Given the description of an element on the screen output the (x, y) to click on. 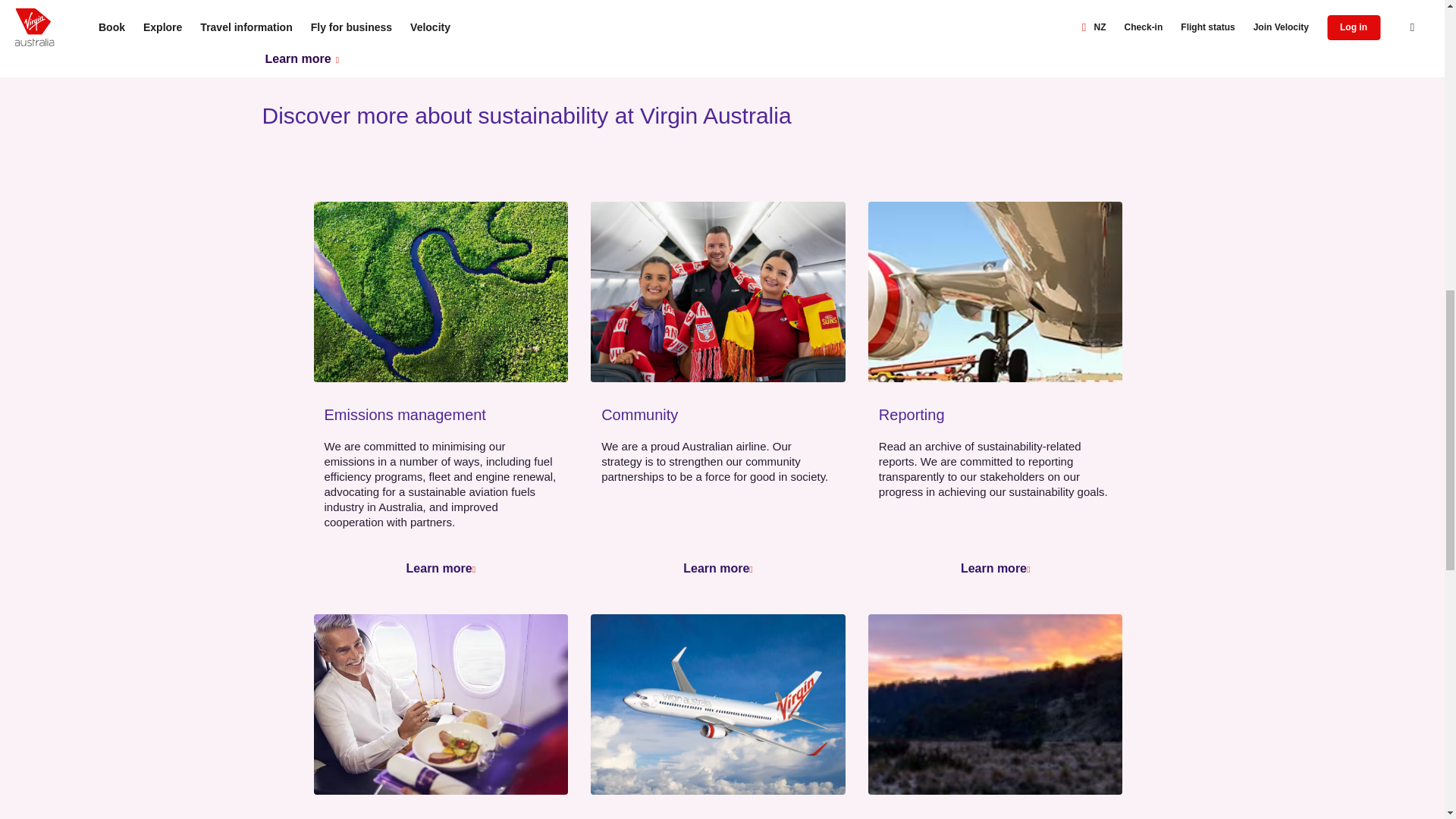
Learn more (993, 567)
Learn more (715, 567)
Learn more (301, 57)
Learn more (438, 567)
